Given the description of an element on the screen output the (x, y) to click on. 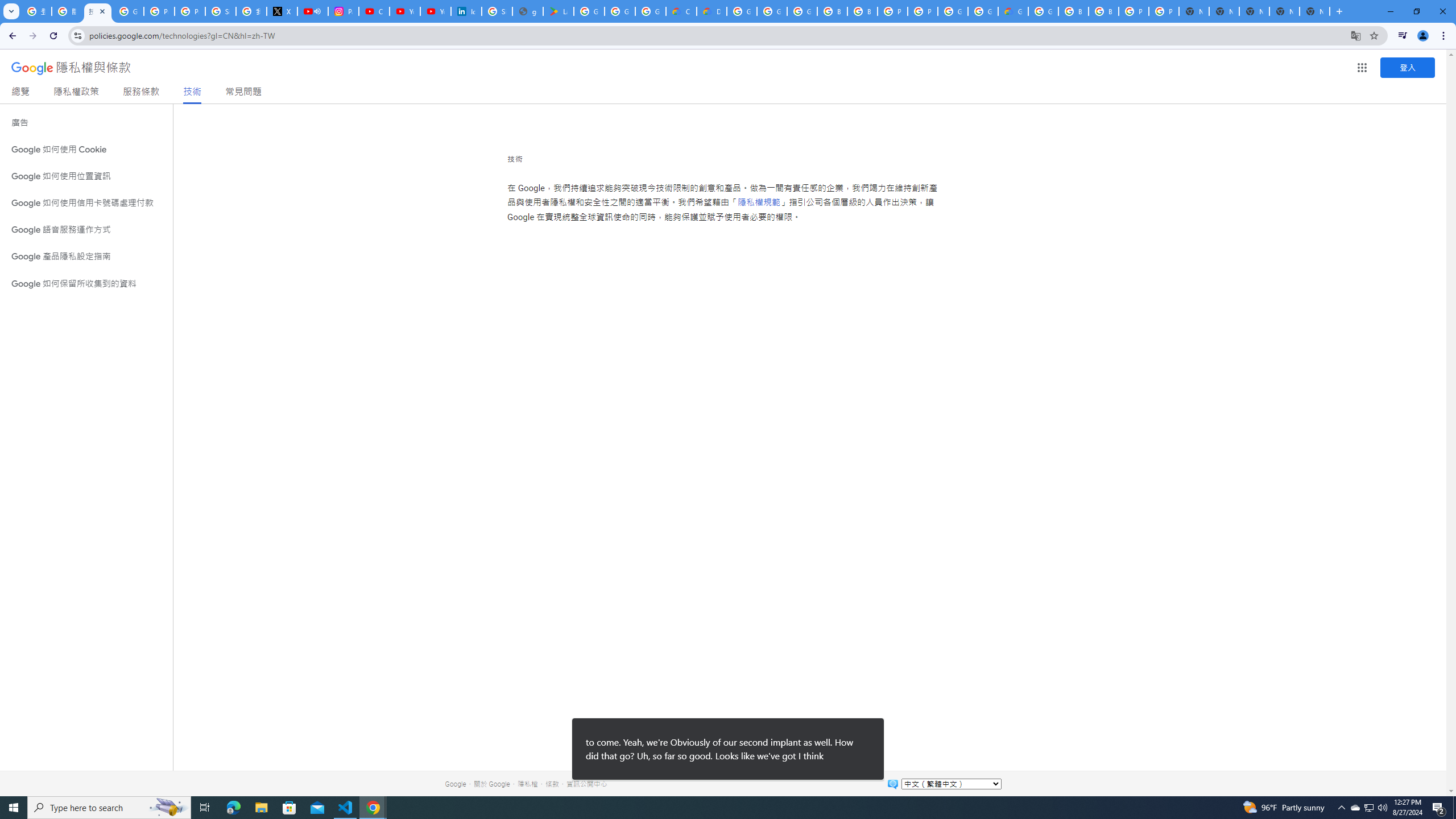
New Tab (1314, 11)
Google Cloud Platform (1042, 11)
